Given the description of an element on the screen output the (x, y) to click on. 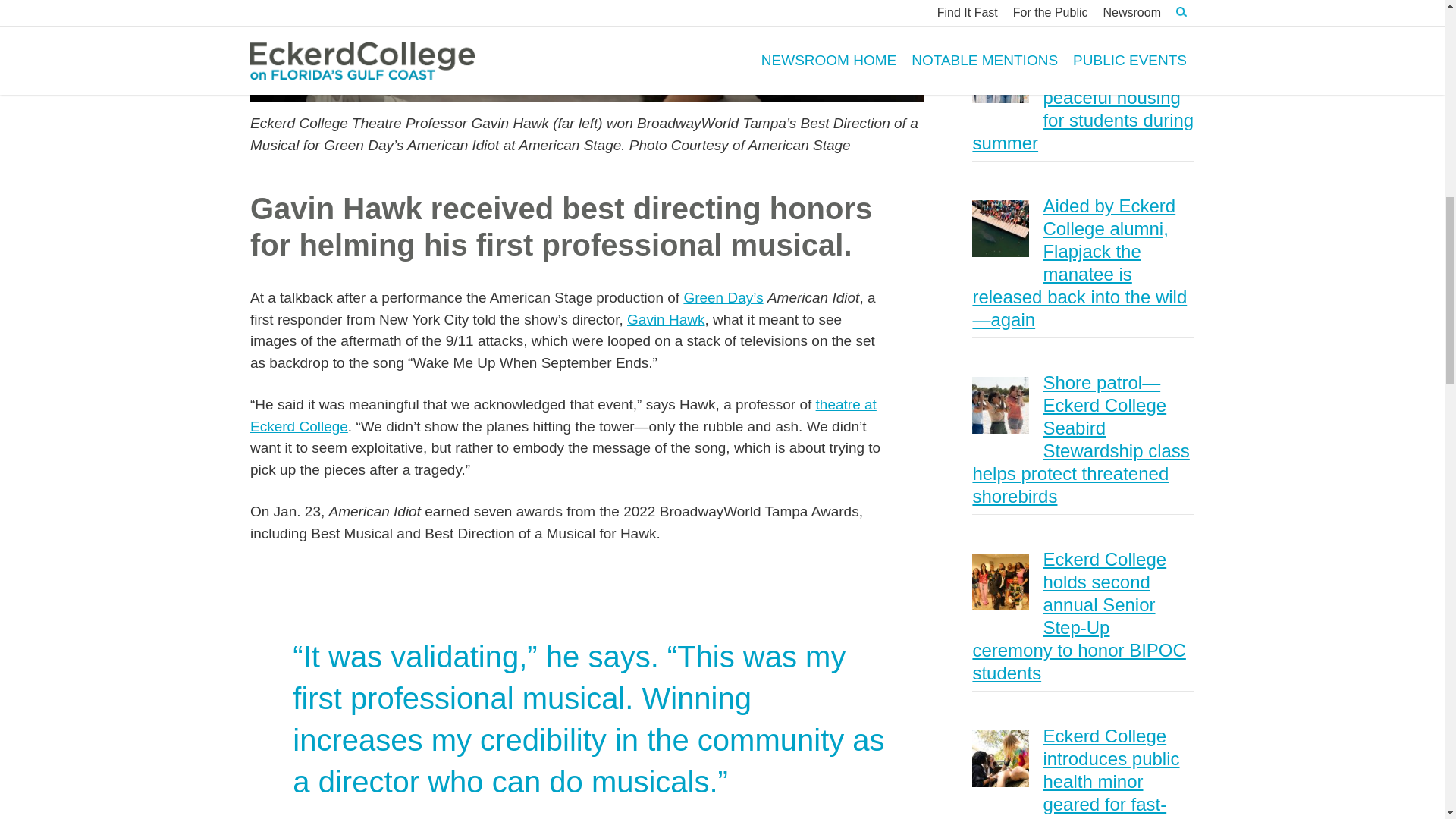
Gavin Hawk (665, 319)
theatre at Eckerd College (563, 415)
